Given the description of an element on the screen output the (x, y) to click on. 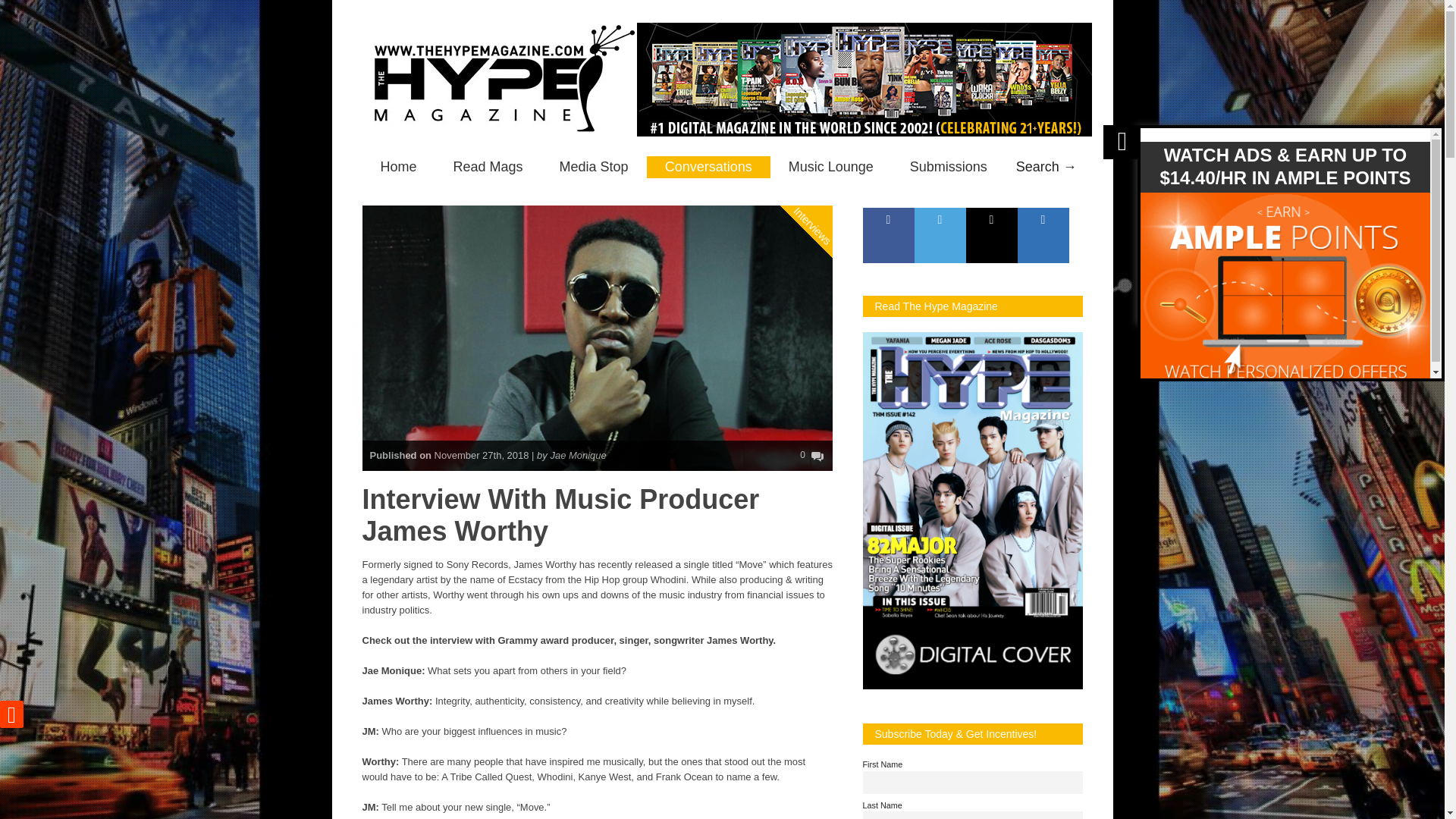
Conversations (708, 167)
Home (398, 167)
Read Mags (488, 167)
Interviews (828, 164)
Media Stop (593, 167)
Music Lounge (830, 167)
Submissions (948, 167)
